Given the description of an element on the screen output the (x, y) to click on. 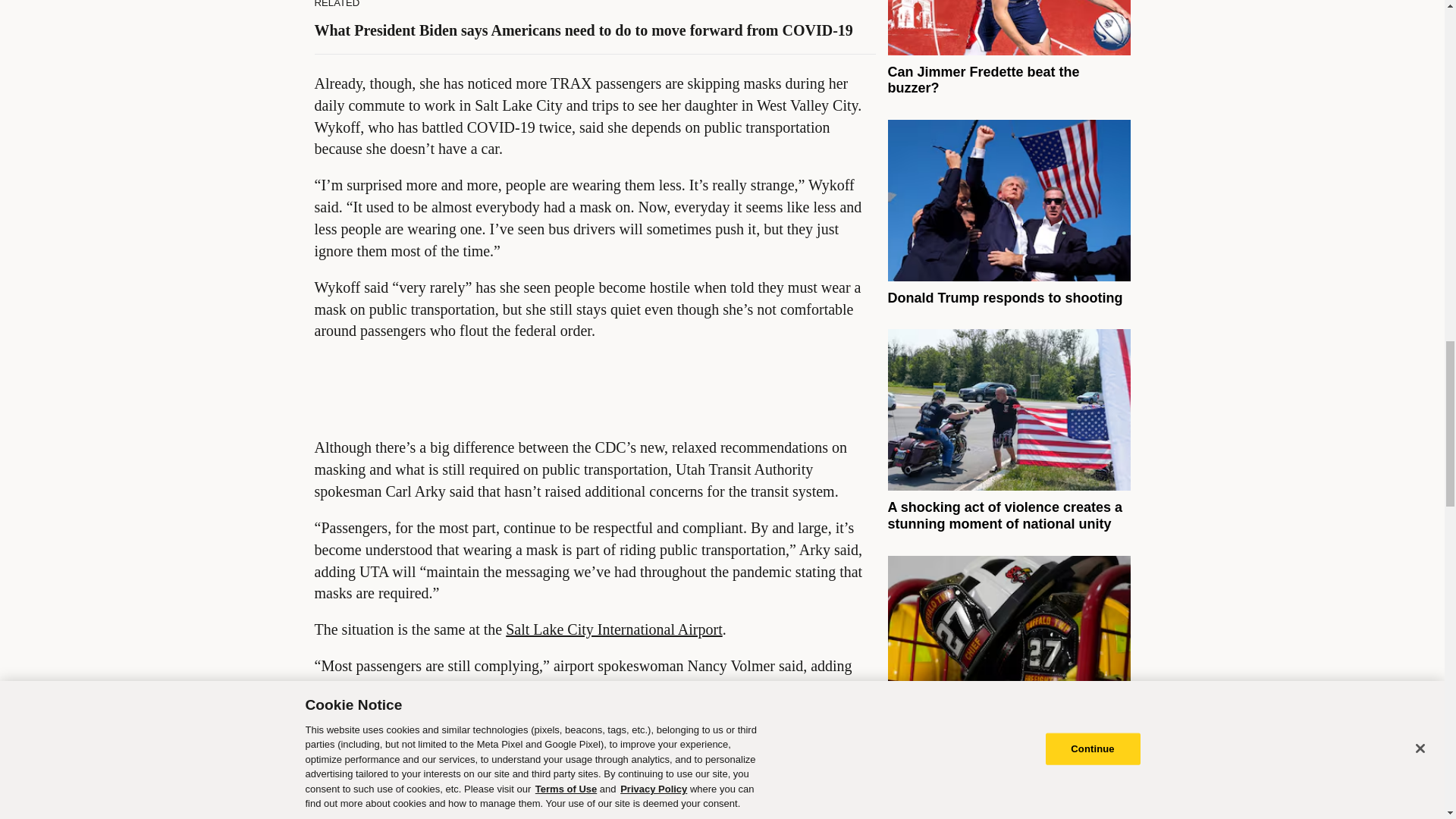
Salt Lake City International Airport (613, 629)
